Given the description of an element on the screen output the (x, y) to click on. 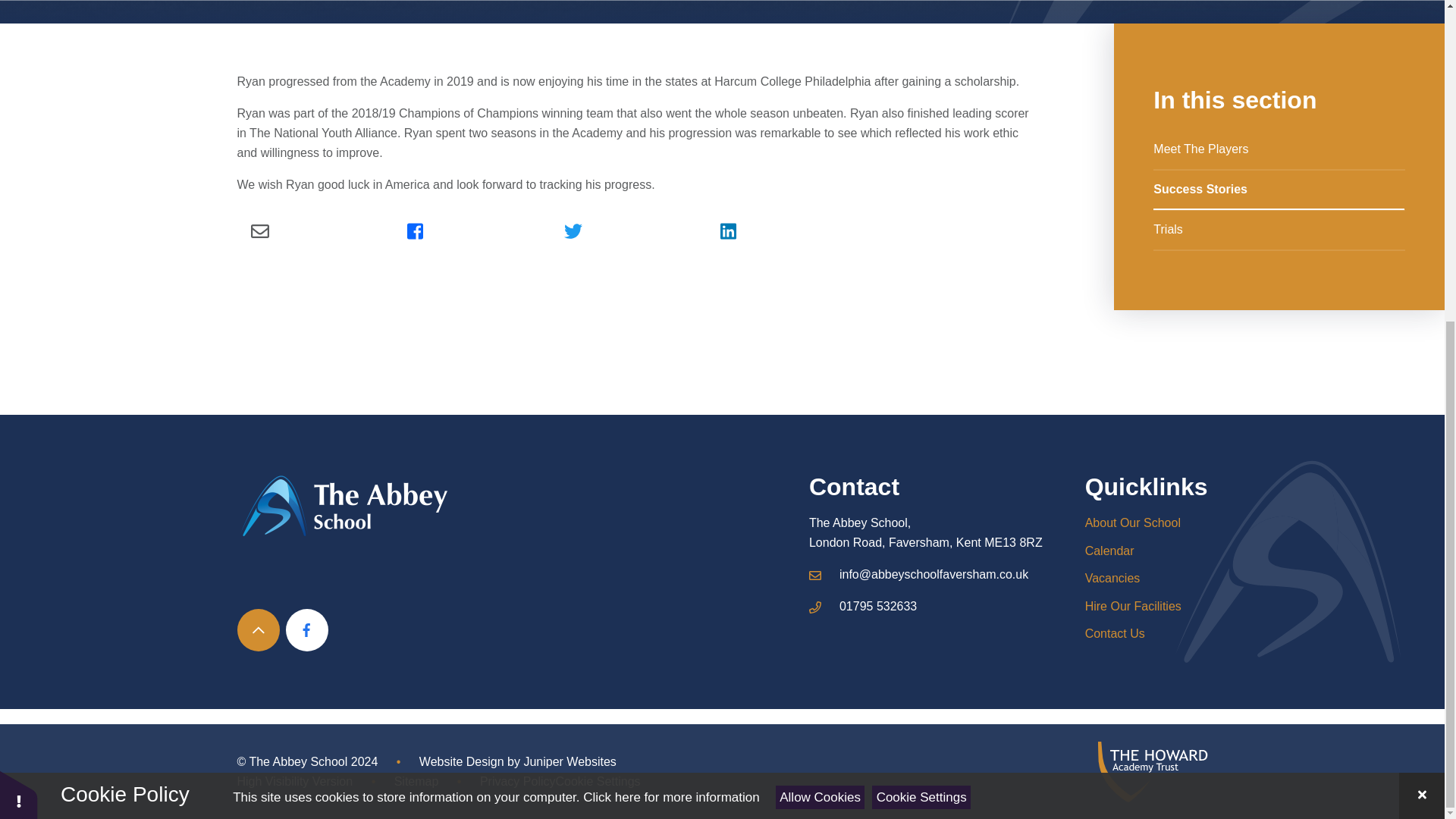
Cookie Settings (921, 274)
Cookie Settings (597, 781)
Allow Cookies (820, 274)
See cookie policy (670, 274)
